Given the description of an element on the screen output the (x, y) to click on. 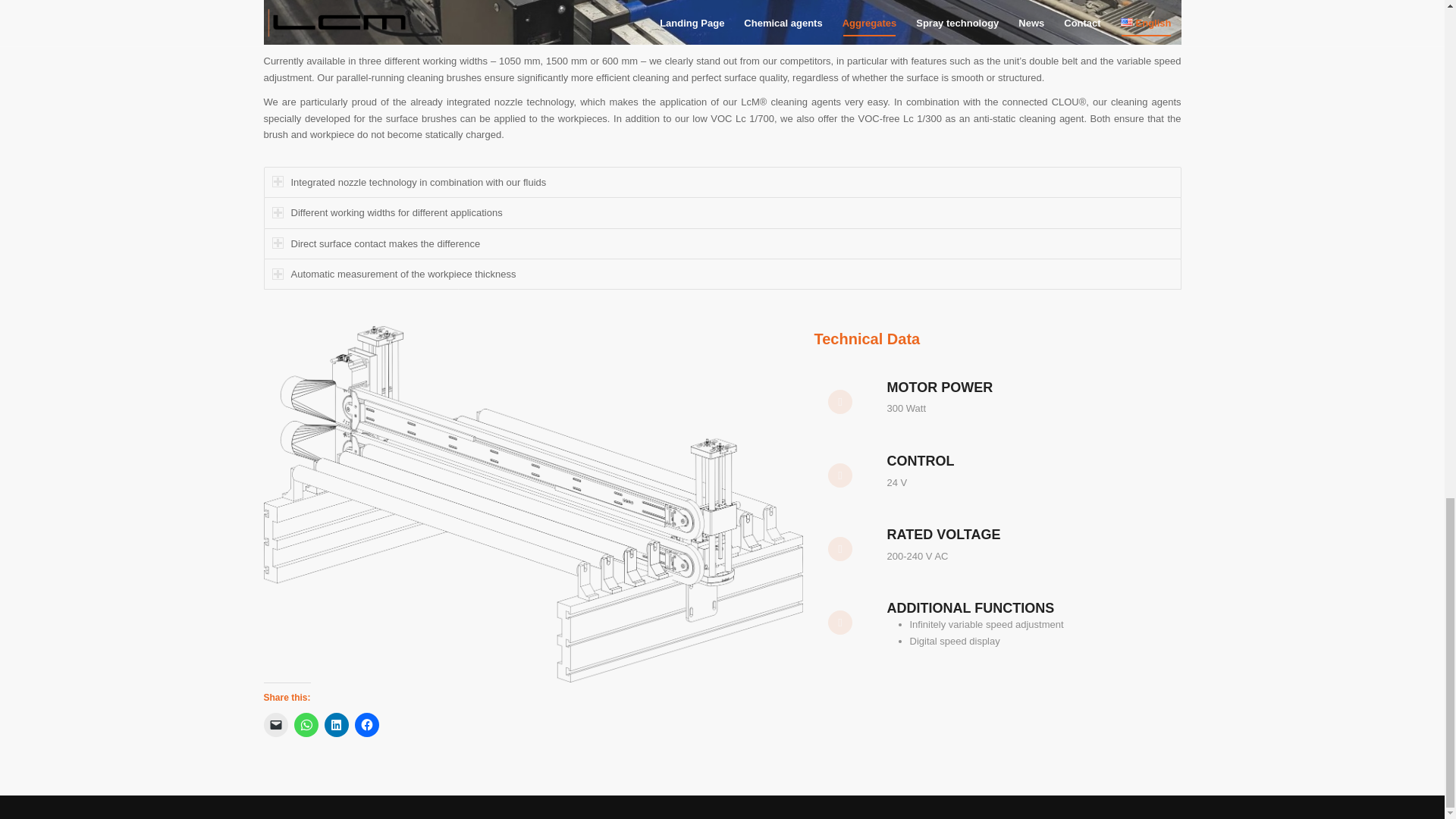
Click to share on Facebook (366, 724)
Click to email a link to a friend (275, 724)
Click to share on WhatsApp (306, 724)
Click to share on LinkedIn (336, 724)
